Given the description of an element on the screen output the (x, y) to click on. 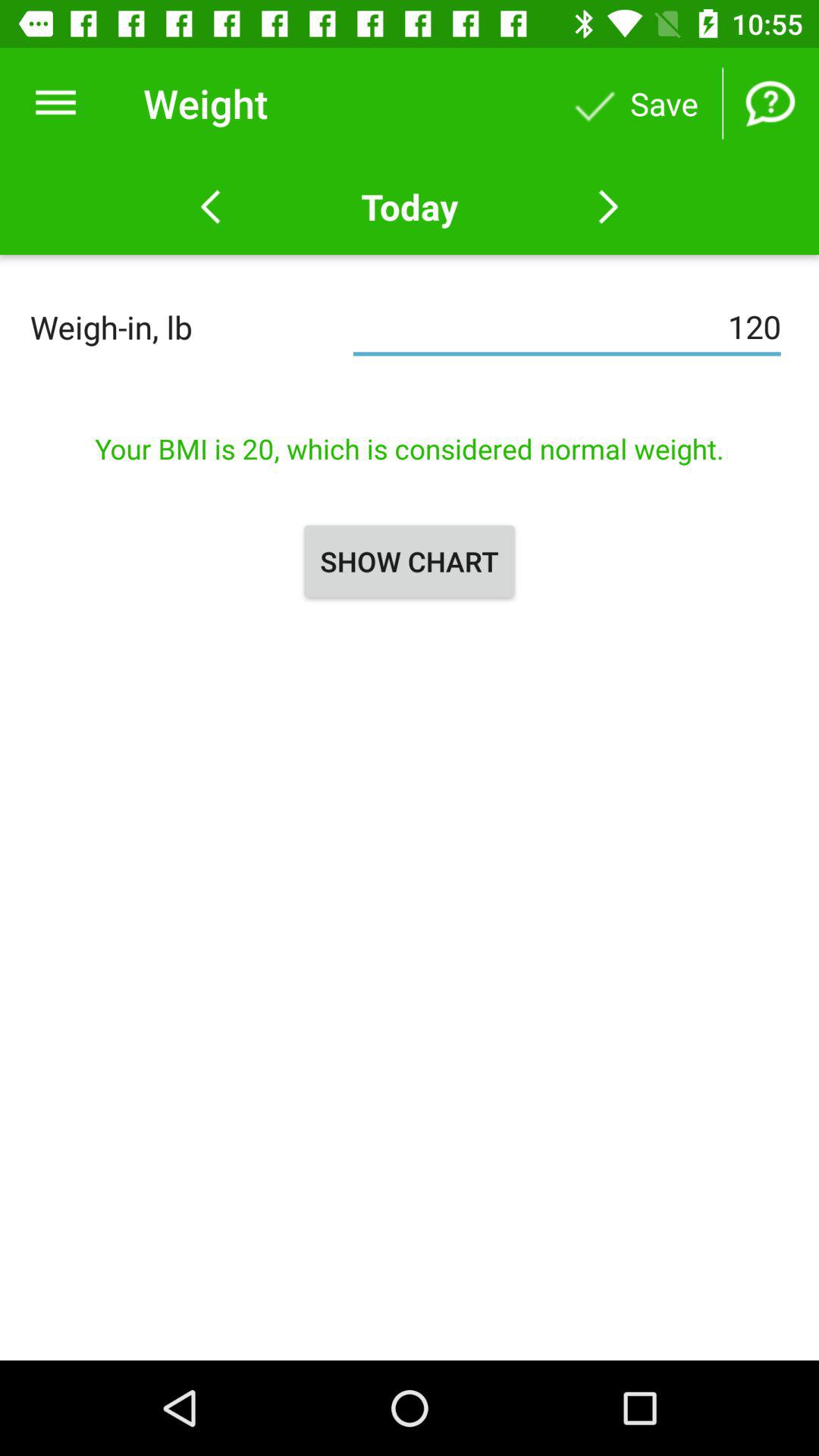
choose the icon below the weight item (409, 206)
